Given the description of an element on the screen output the (x, y) to click on. 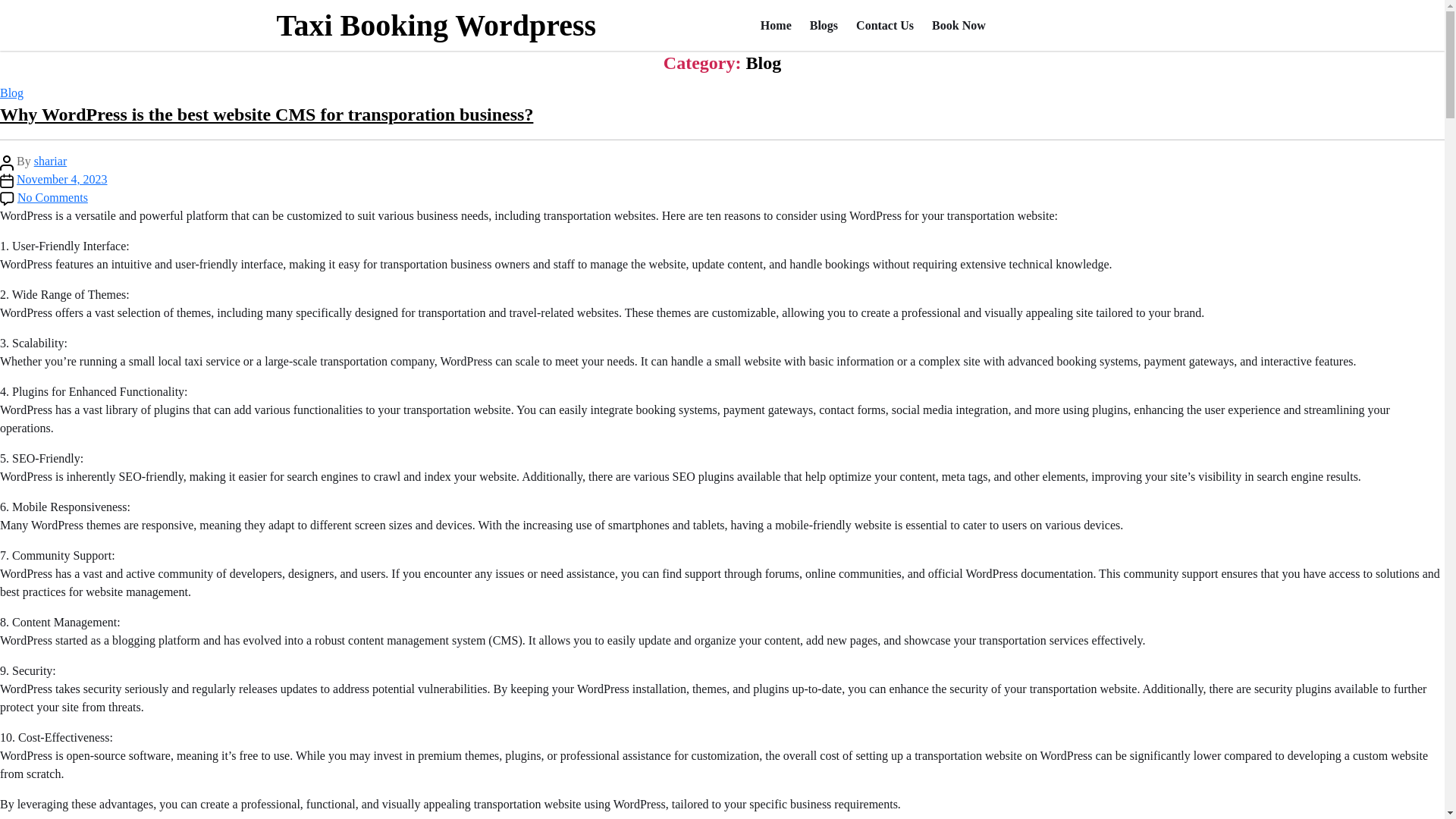
Taxi Booking Wordpress (435, 25)
Book Now (967, 24)
Blogs (832, 24)
November 4, 2023 (61, 178)
Blog (11, 92)
Home (784, 24)
Contact Us (893, 24)
shariar (49, 160)
